Given the description of an element on the screen output the (x, y) to click on. 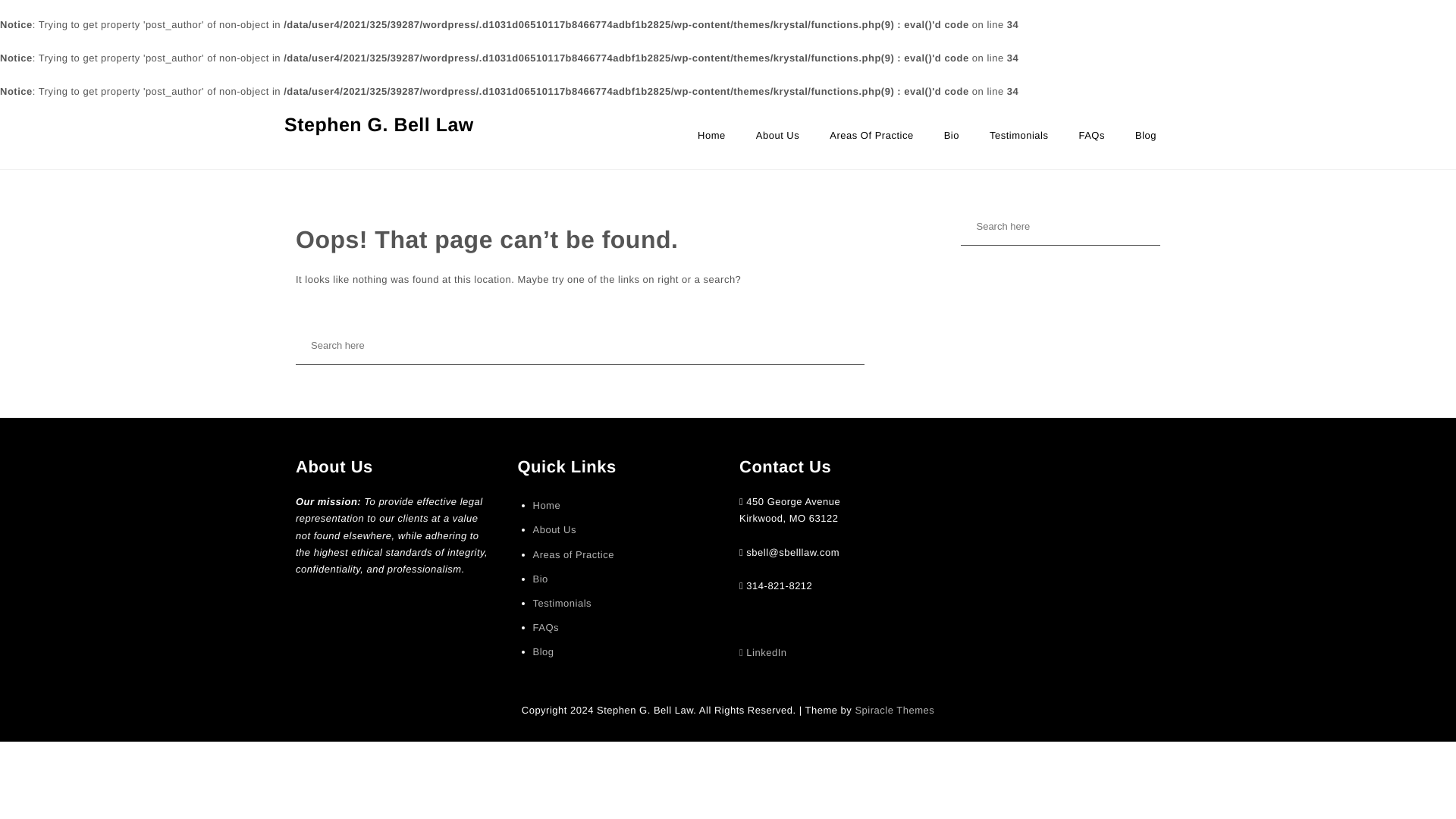
Testimonials (1019, 142)
LinkedIn (763, 652)
Bio (539, 579)
Stephen G. Bell Law (378, 125)
Home (711, 142)
Blog (542, 651)
Areas of Practice (573, 555)
About Us (777, 142)
About Us (553, 529)
FAQs (545, 627)
Testimonials (1019, 142)
Search (46, 20)
Home (546, 505)
Areas of Practice (870, 142)
Home (711, 142)
